Given the description of an element on the screen output the (x, y) to click on. 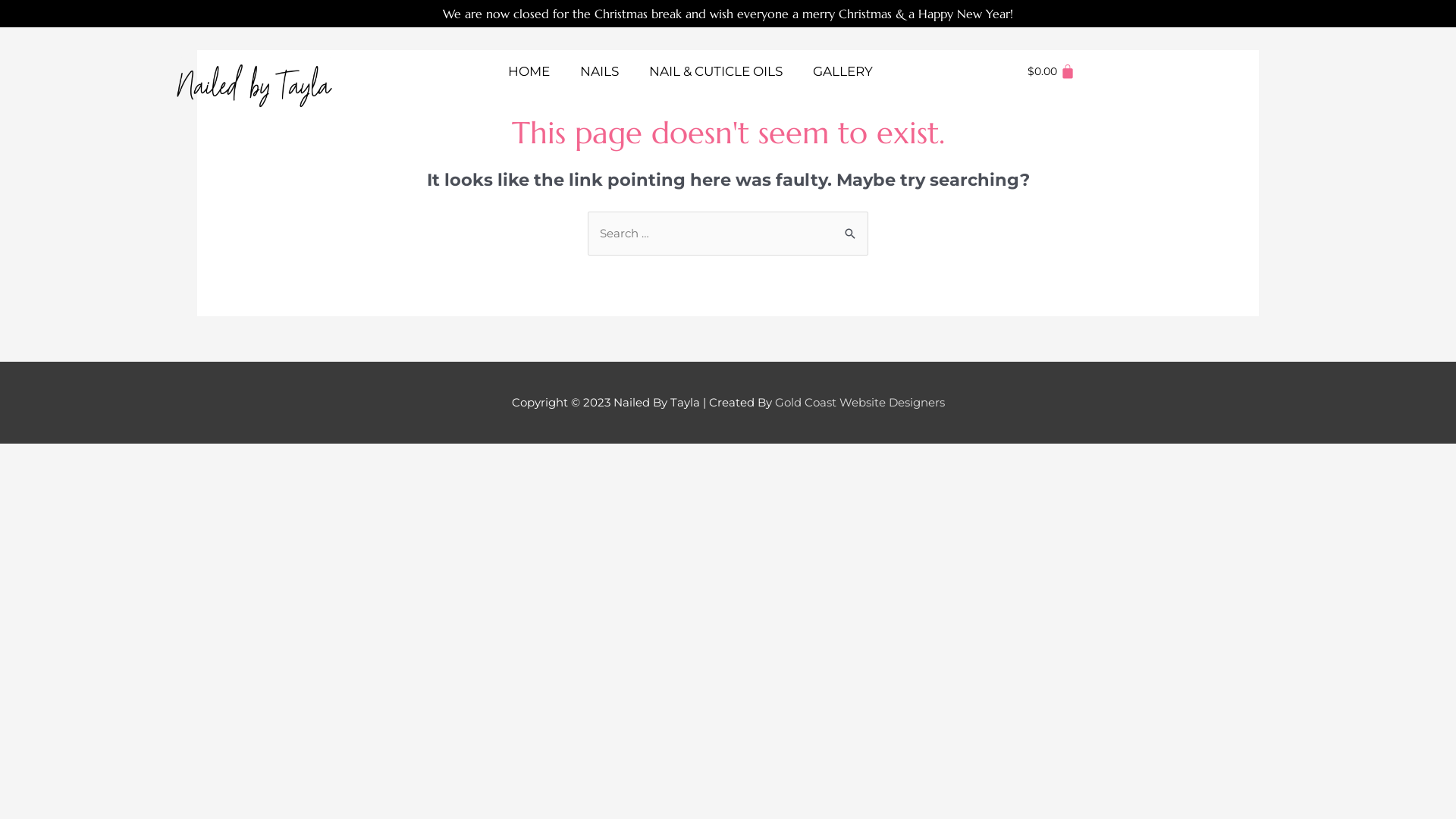
NAIL & CUTICLE OILS Element type: text (715, 70)
$0.00 Element type: text (1051, 70)
NAILS Element type: text (598, 70)
GALLERY Element type: text (842, 70)
Gold Coast Website Designers Element type: text (859, 402)
Search Element type: text (851, 231)
HOME Element type: text (528, 70)
